Given the description of an element on the screen output the (x, y) to click on. 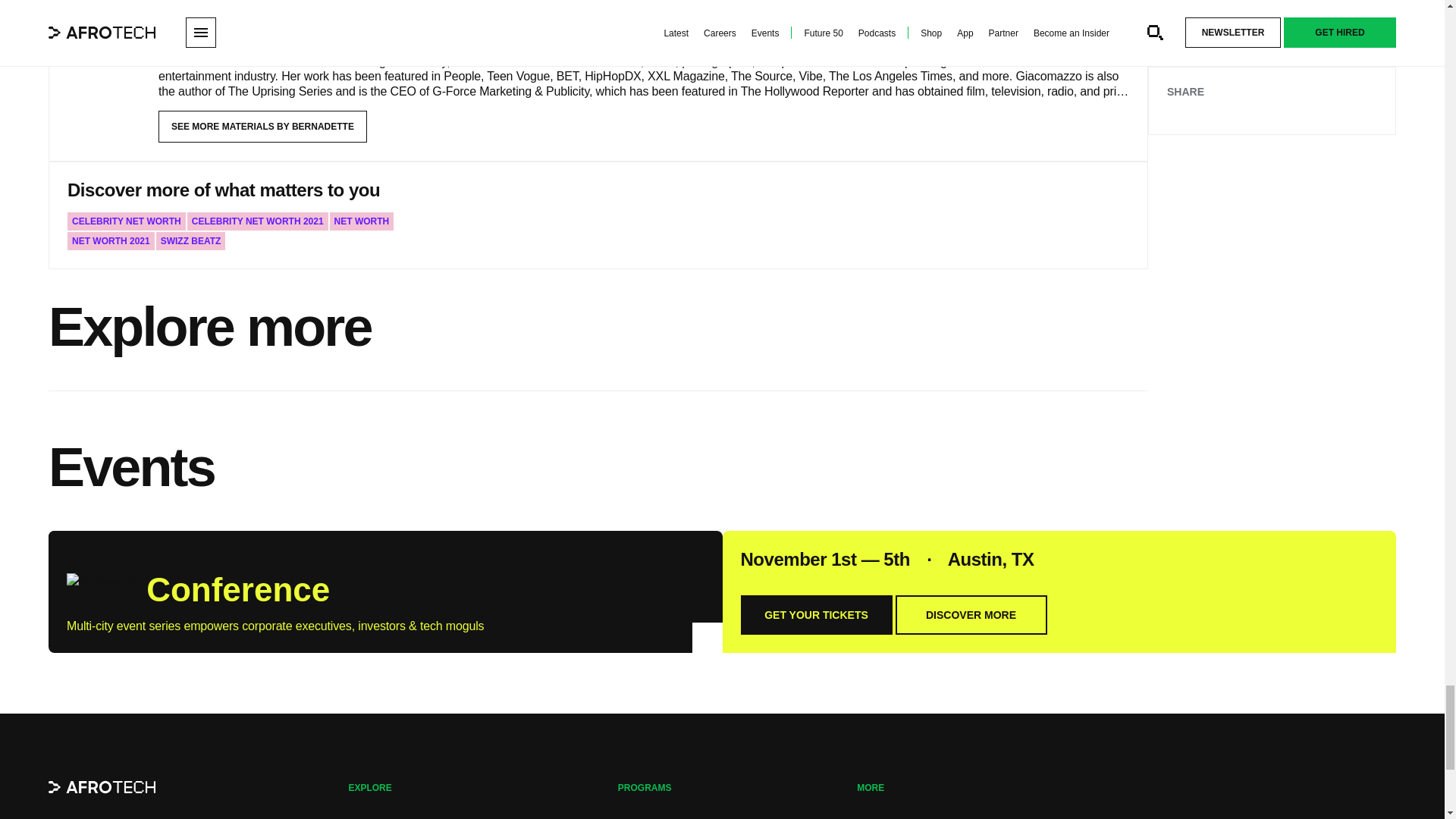
Bernadette Giacomazzo (257, 32)
DISCOVER MORE (970, 614)
SWIZZ BEATZ (190, 240)
conference (102, 586)
GET YOUR TICKETS (815, 614)
NET WORTH 2021 (110, 240)
CELEBRITY NET WORTH 2021 (258, 221)
NET WORTH (362, 221)
CELEBRITY NET WORTH (126, 221)
Bernadette Giacomazzo (102, 58)
